Given the description of an element on the screen output the (x, y) to click on. 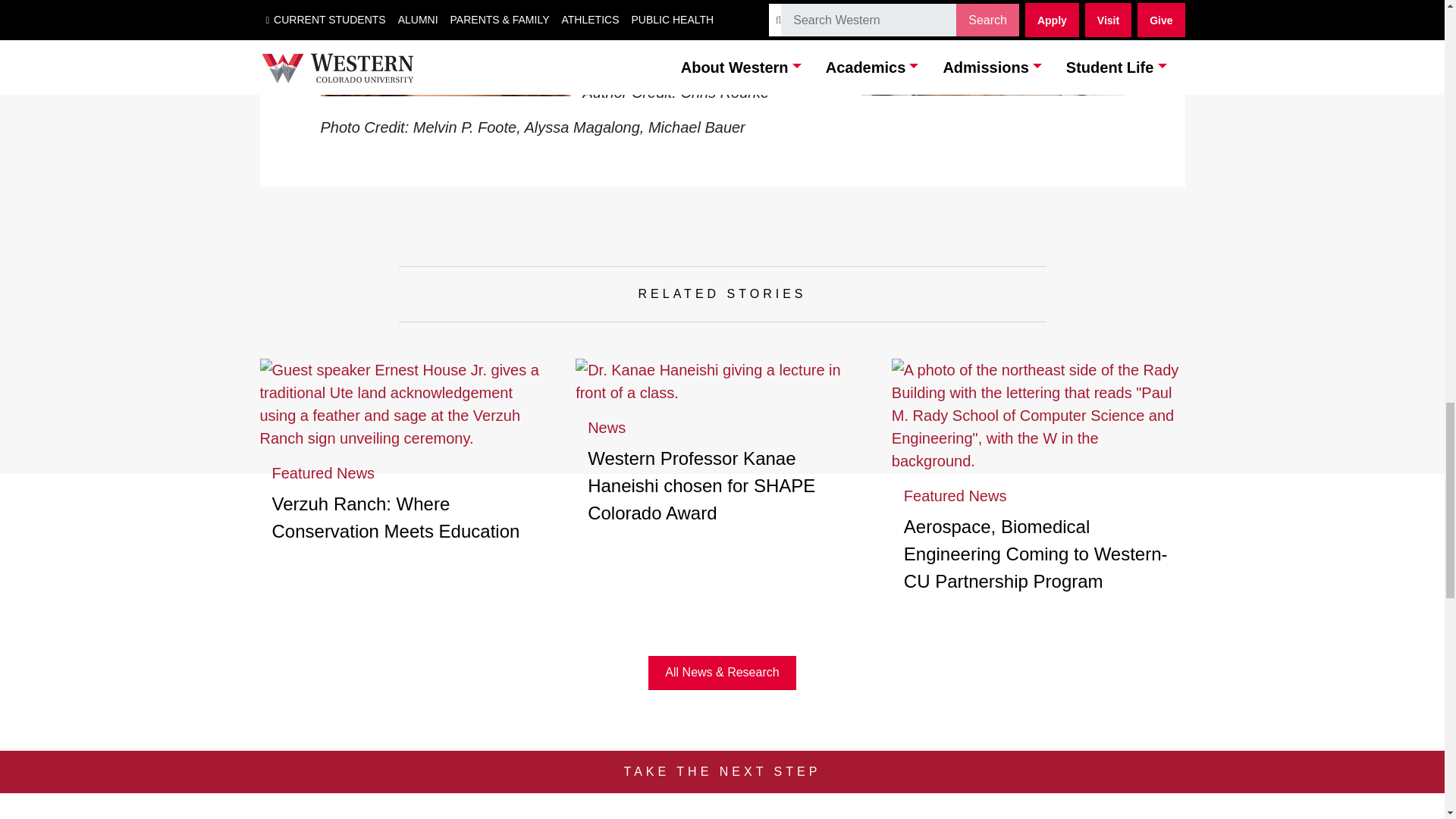
Verzuh Ranch: Where Conservation Meets Education (394, 517)
